Given the description of an element on the screen output the (x, y) to click on. 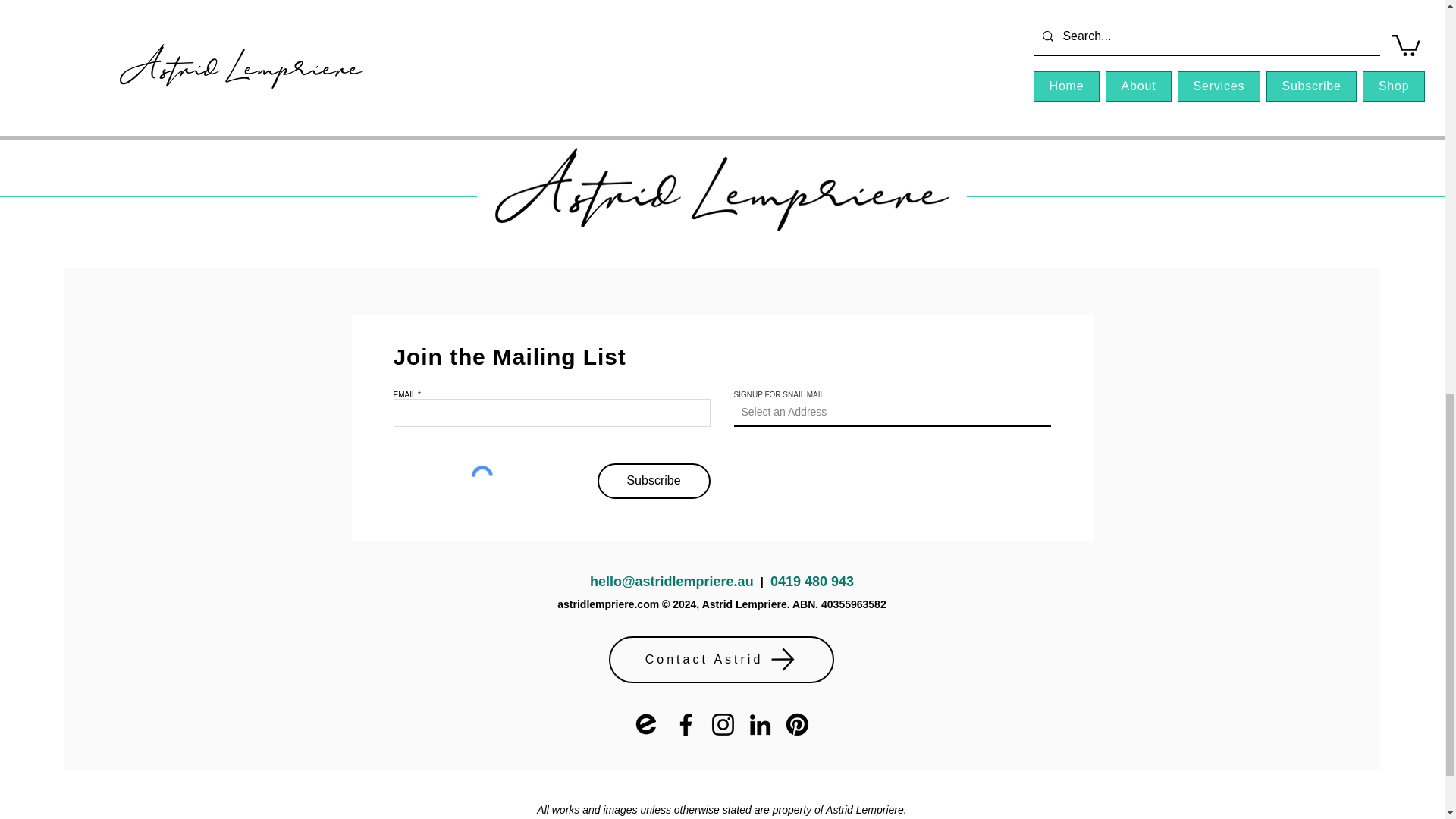
Contact Astrid (720, 659)
Subscribe (653, 480)
AL LOGO black.png (722, 189)
